Given the description of an element on the screen output the (x, y) to click on. 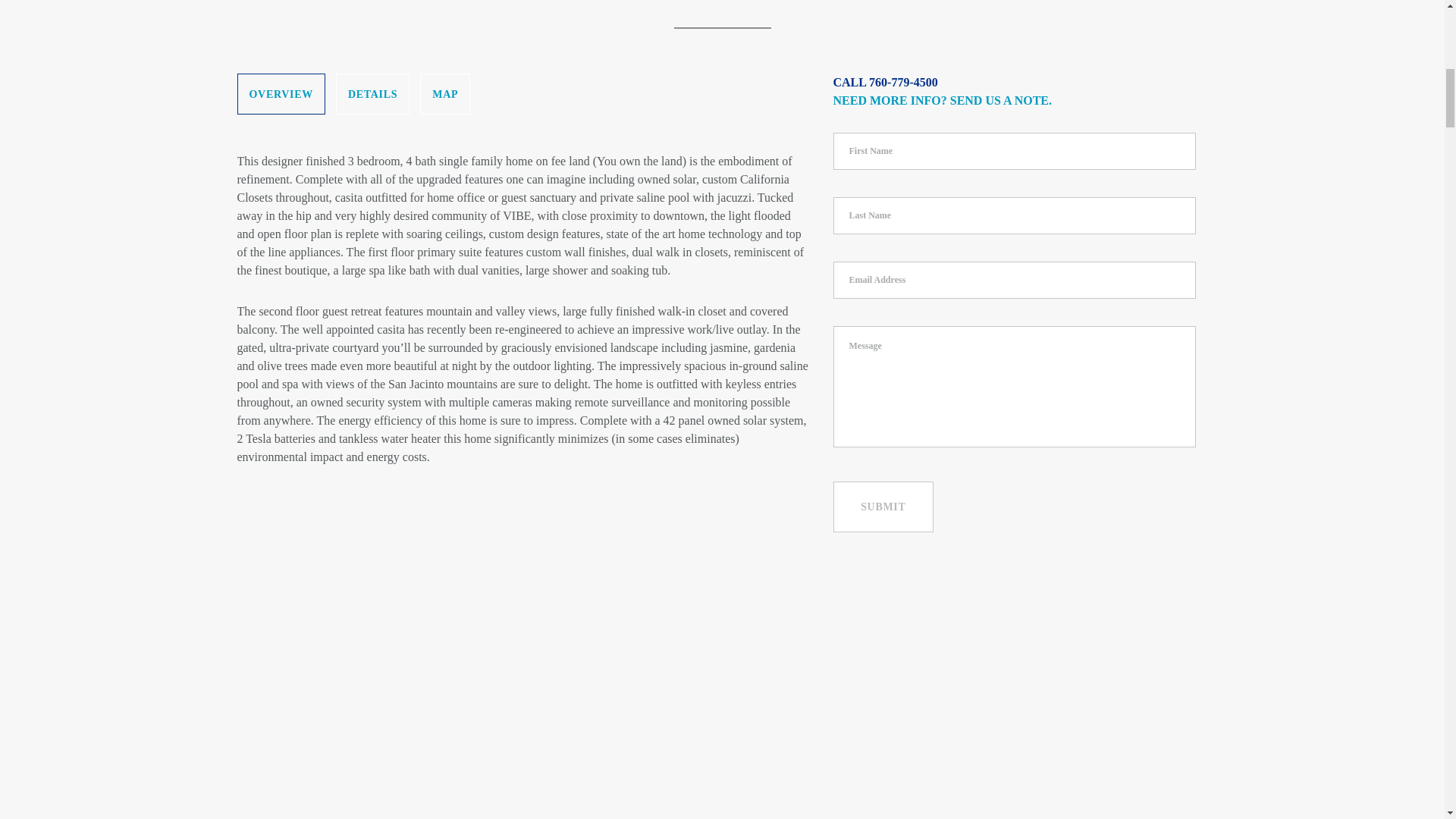
Submit (882, 506)
CALL 760-779-4500 (884, 82)
Submit (882, 506)
